Given the description of an element on the screen output the (x, y) to click on. 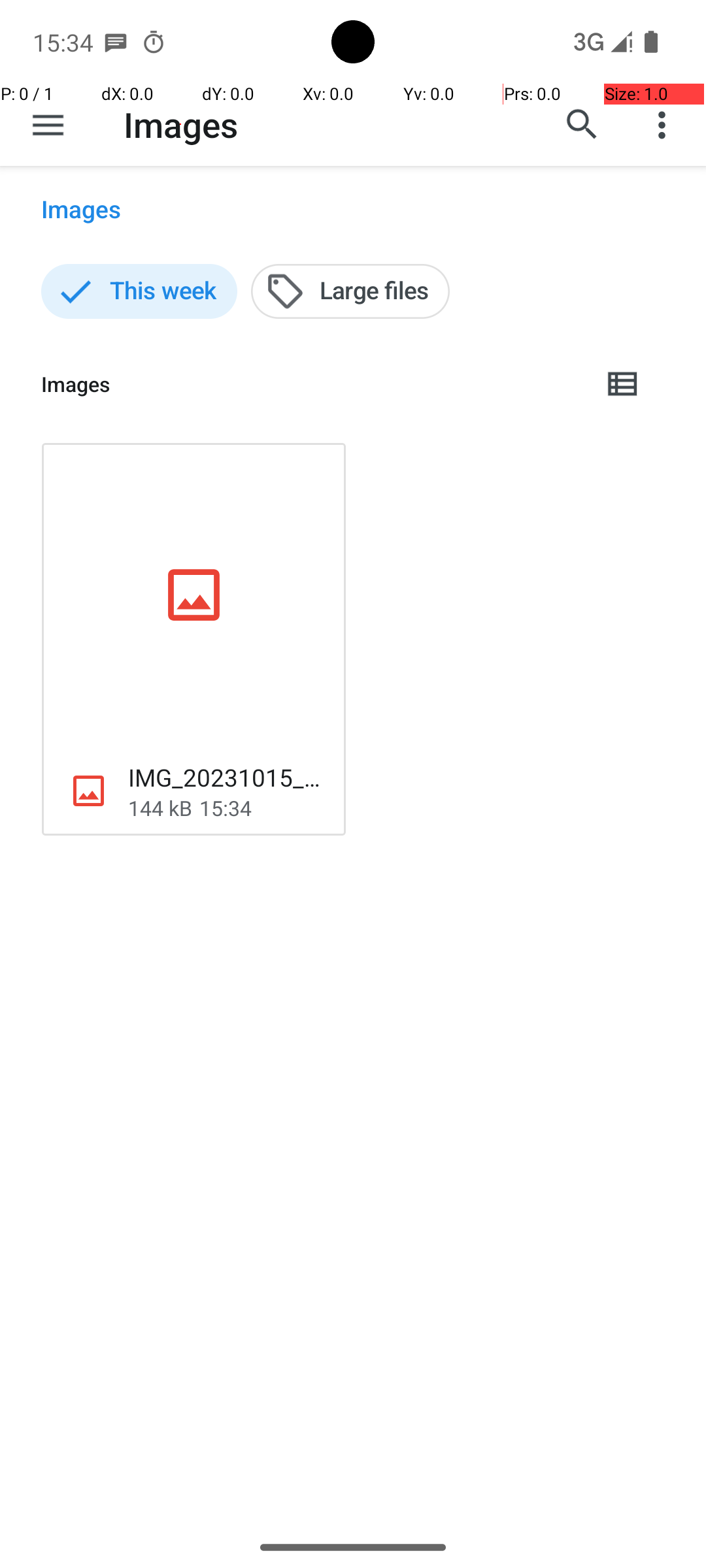
IMG_20231015_153419.jpg Element type: android.widget.TextView (226, 776)
144 kB Element type: android.widget.TextView (160, 807)
